Given the description of an element on the screen output the (x, y) to click on. 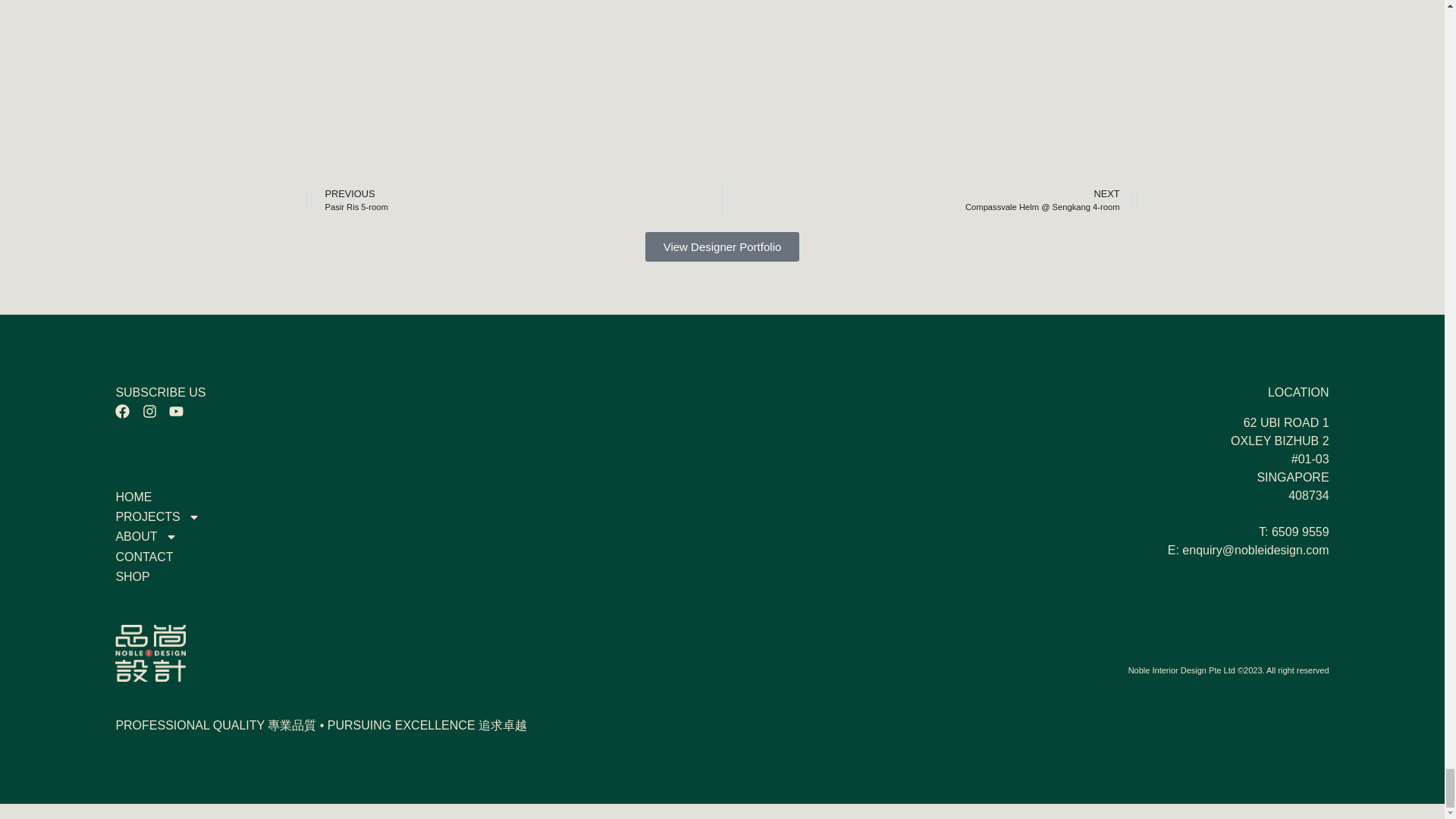
Page 1 (1085, 486)
Page 1 (1085, 670)
